Given the description of an element on the screen output the (x, y) to click on. 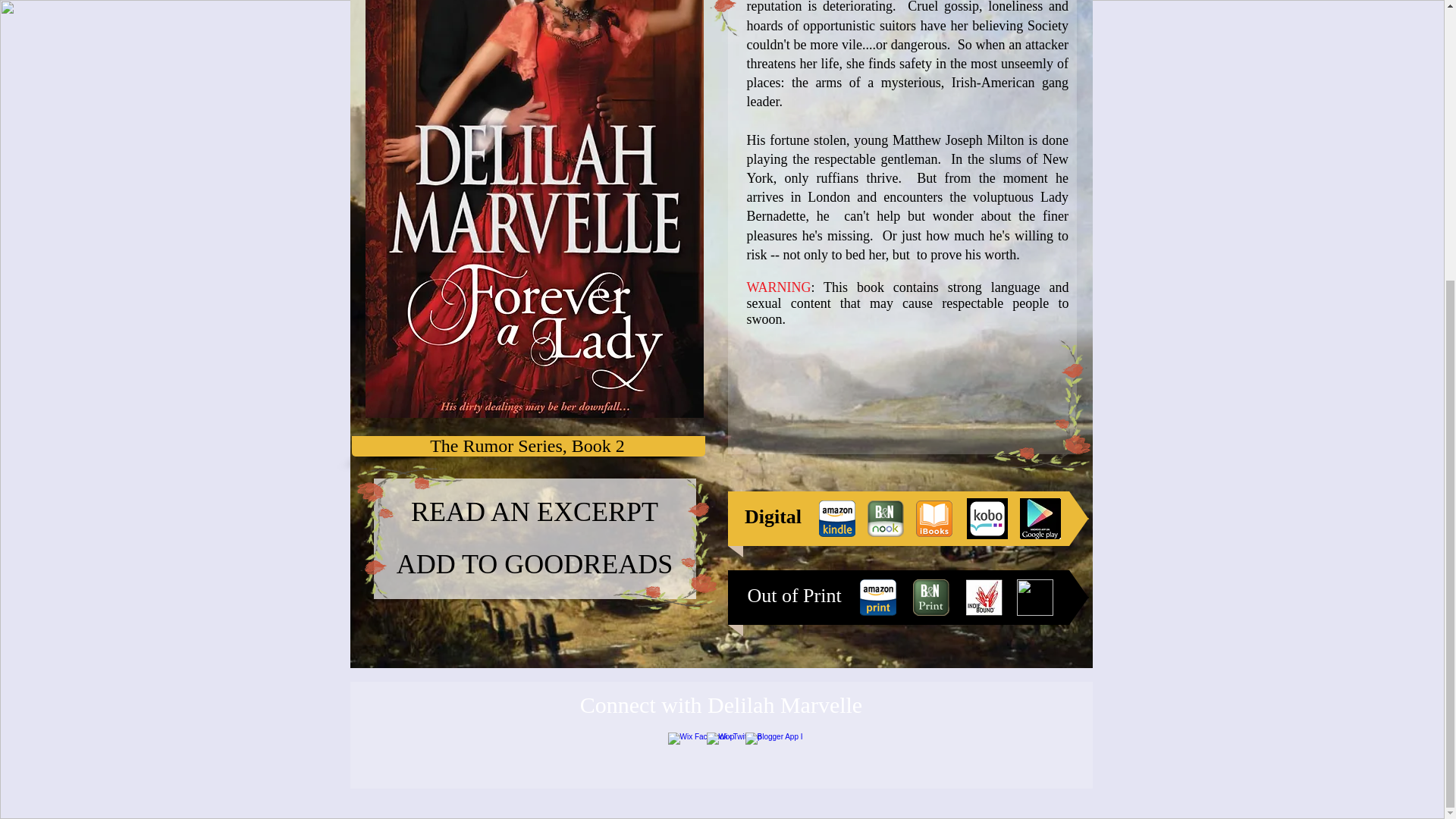
Unknown.jpeg (1039, 517)
waxcreative-bn-print.png (930, 597)
Unknown-1.jpeg (1034, 597)
waxcreative-amazon-print.png (878, 597)
READ AN EXCERPT (533, 511)
ADD TO GOODREADS (533, 564)
waxcreative-ibooks.png (933, 518)
images.jpeg (984, 597)
